Given the description of an element on the screen output the (x, y) to click on. 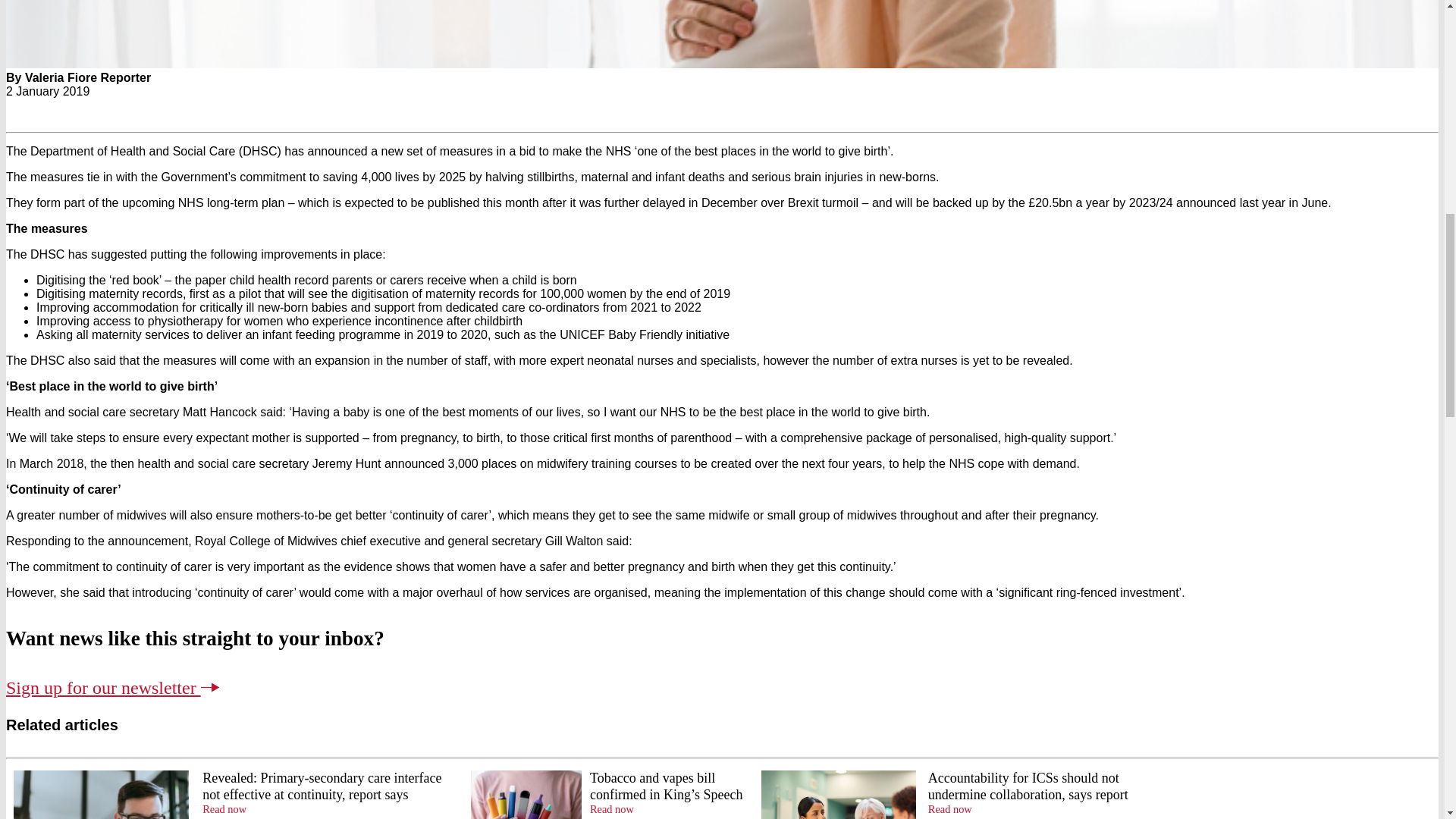
Sign up for our newsletter (102, 687)
Sign up for our bulletins (102, 687)
